Given the description of an element on the screen output the (x, y) to click on. 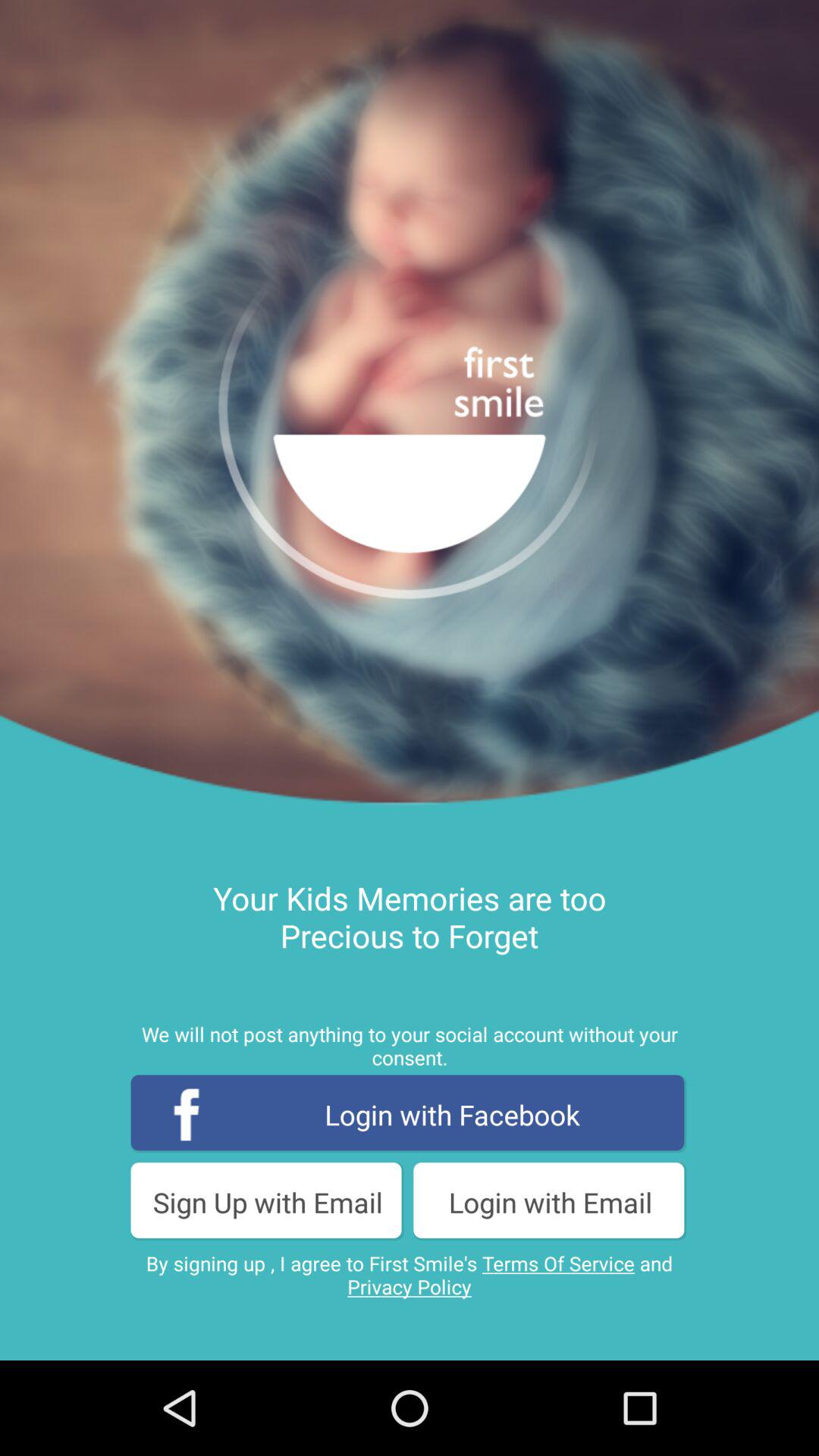
launch the button below the sign up with (409, 1275)
